Given the description of an element on the screen output the (x, y) to click on. 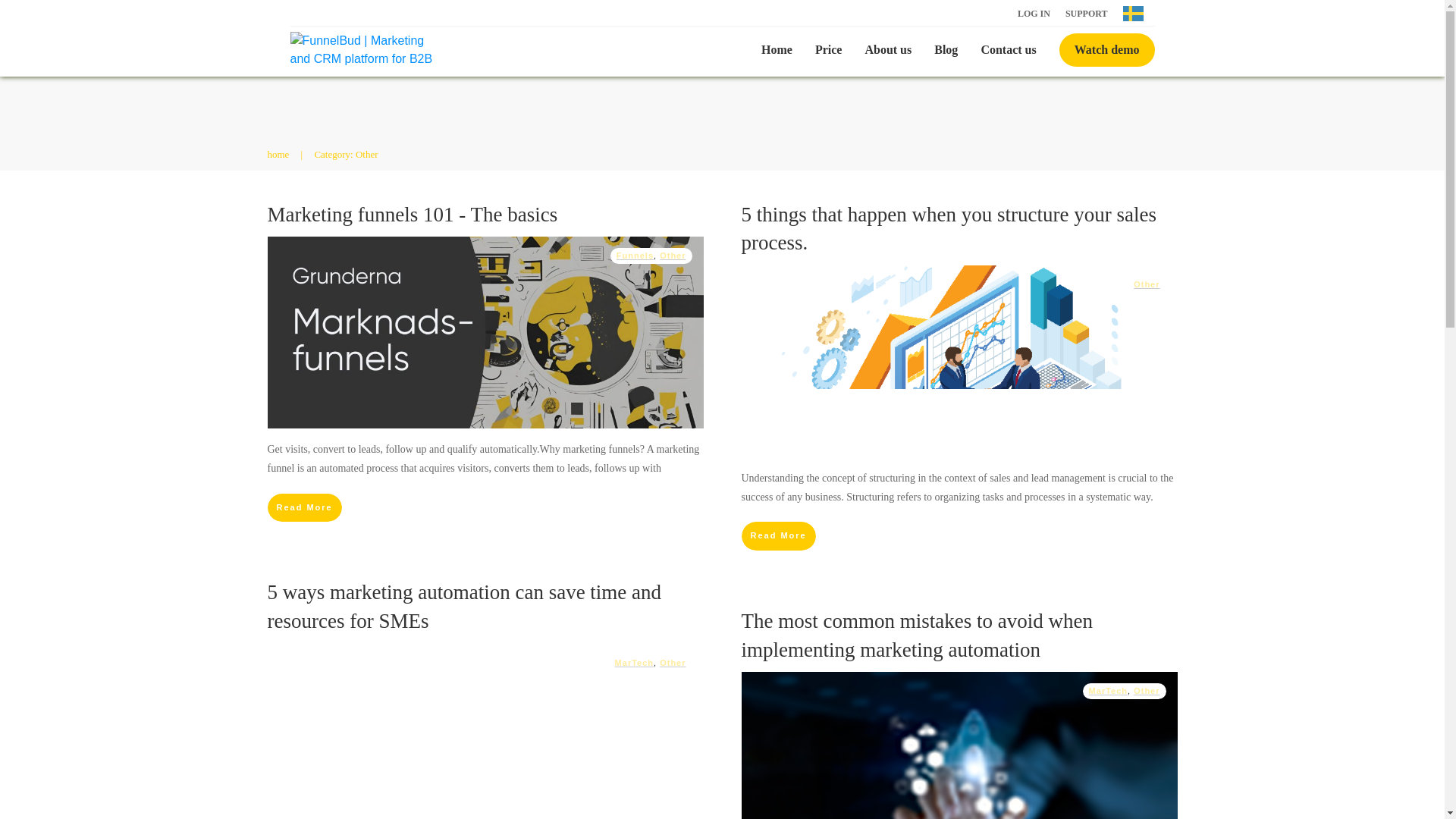
home (277, 153)
Read More (778, 535)
Contact us (1007, 49)
MarTech (633, 662)
5 things that happen when you structure your sales process. (948, 228)
Other (672, 255)
5 things that happen when you structure your sales process. (948, 228)
Marketing funnels 101 - The basics (411, 214)
Other (672, 662)
Other (672, 255)
Home (776, 49)
Funnels (634, 255)
Other (672, 662)
